Given the description of an element on the screen output the (x, y) to click on. 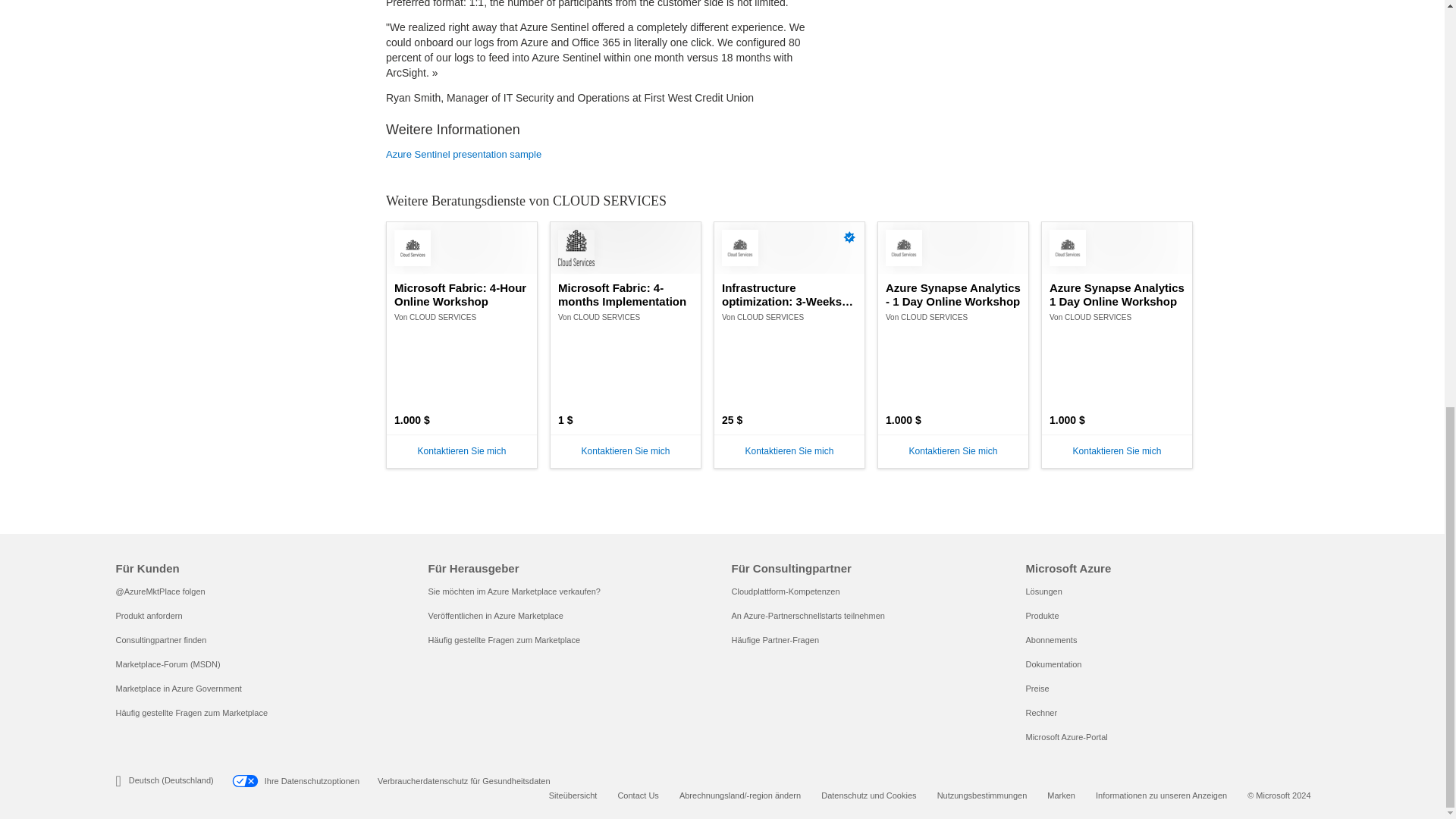
Infrastructure optimization: 3-Weeks Assessment (789, 294)
Microsoft Fabric: 4-months Implementation (625, 294)
Microsoft Fabric: 4-Hour Online Workshop (461, 294)
Azure Synapse Analytics - 1 Day Online Workshop (952, 294)
Azure Synapse Analytics 1 Day Online Workshop (1117, 294)
Azure Experts MSP badge (849, 237)
